Given the description of an element on the screen output the (x, y) to click on. 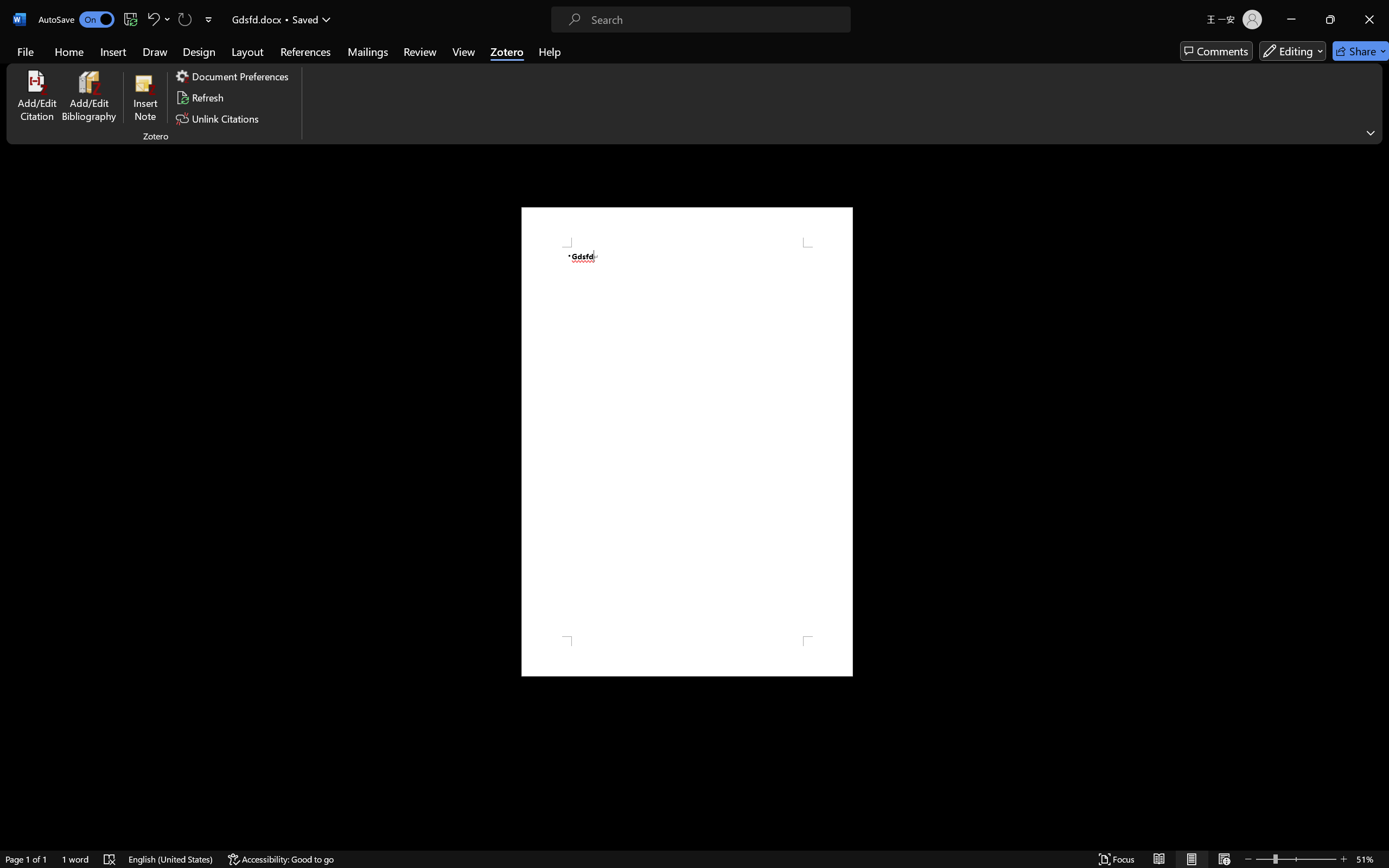
Page 1 content (686, 441)
